Given the description of an element on the screen output the (x, y) to click on. 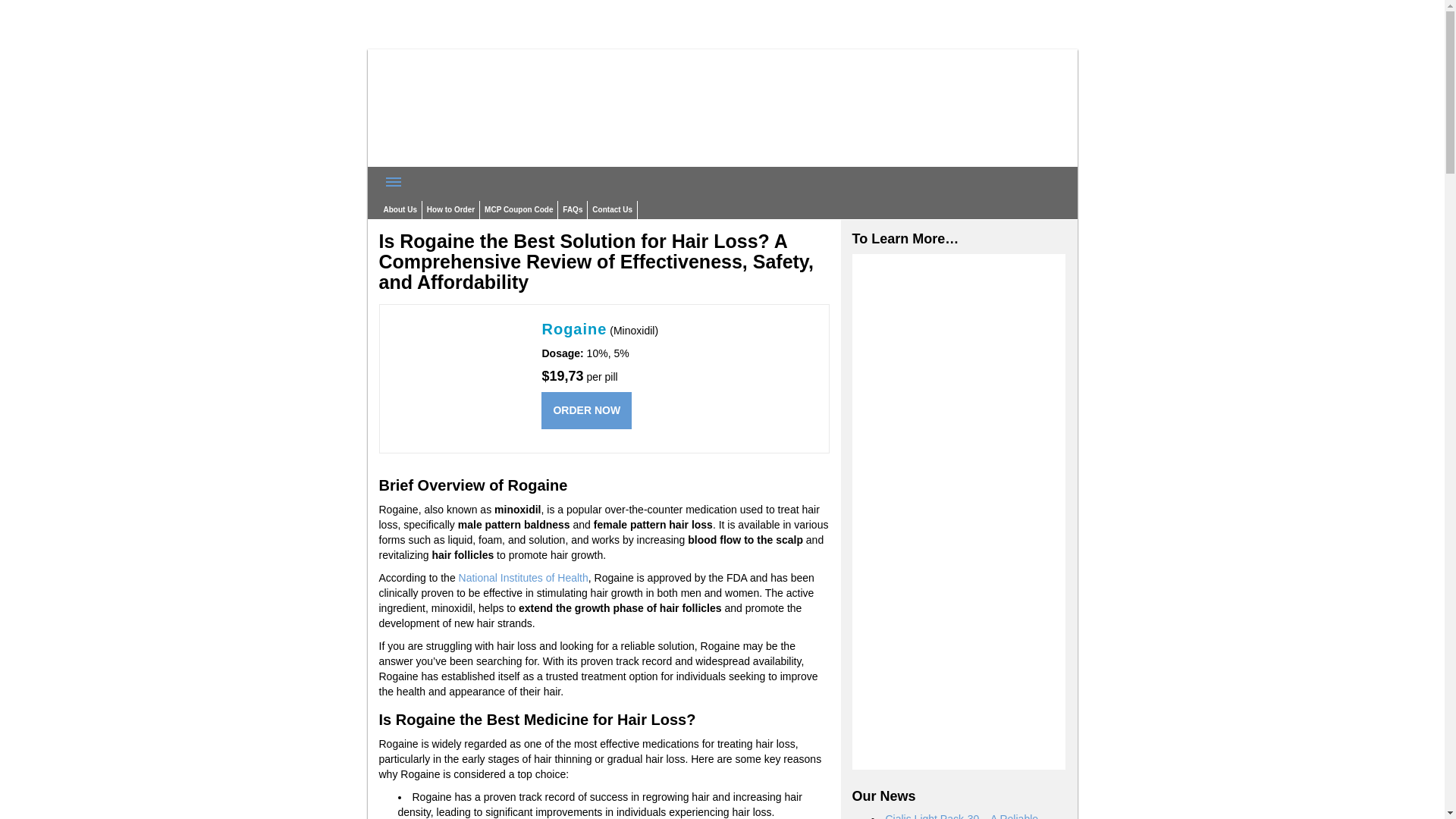
About Us (400, 209)
Contact Us (612, 209)
ORDER NOW (586, 410)
Menu (393, 182)
My Canadian Pharmacy (492, 159)
FAQs (571, 209)
MCP Coupon Code (518, 209)
National Institutes of Health (523, 577)
How to Order (450, 209)
